Given the description of an element on the screen output the (x, y) to click on. 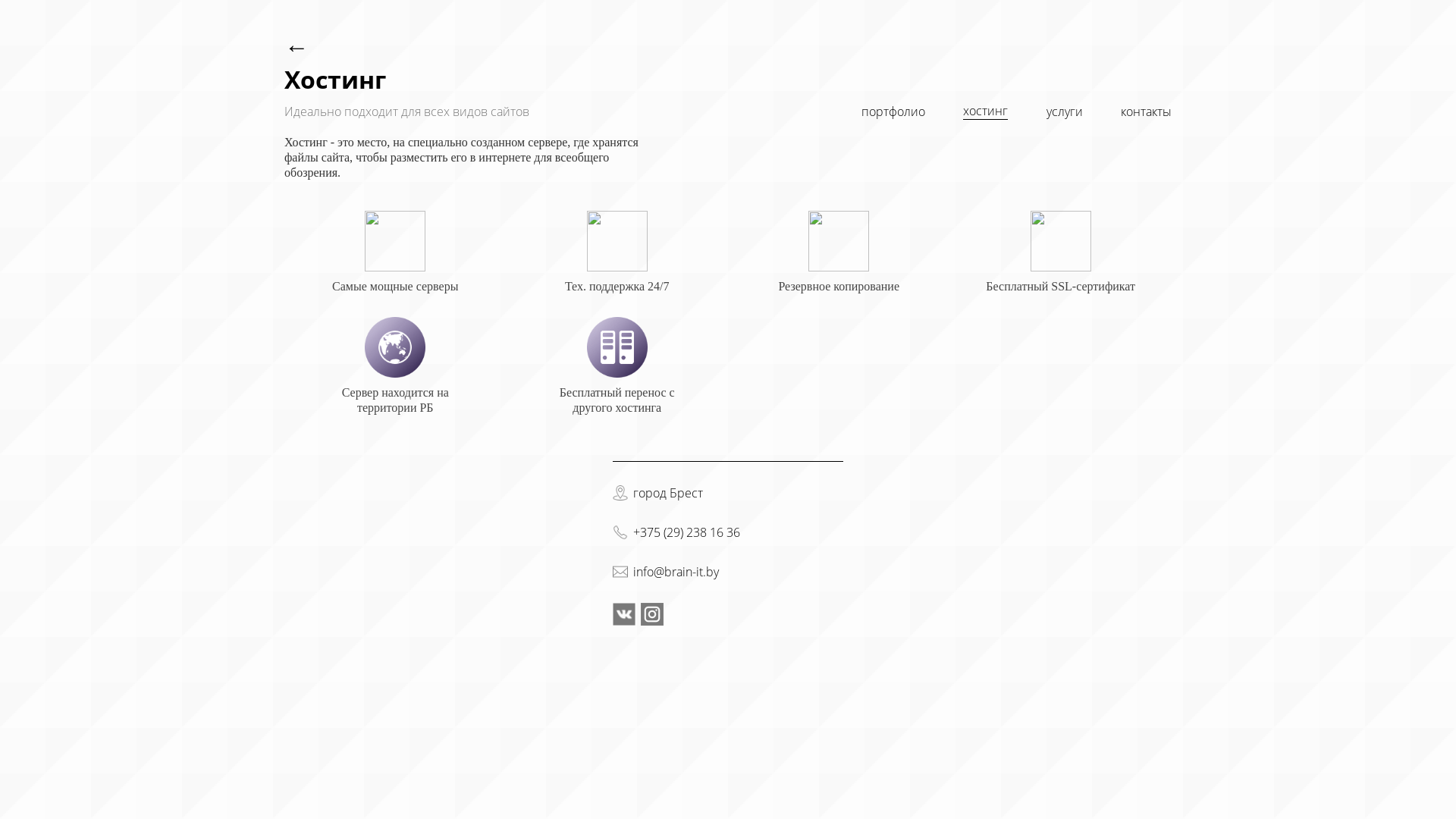
+375 (29) 238 16 36 Element type: text (686, 532)
info@brain-it.by Element type: text (675, 571)
